Given the description of an element on the screen output the (x, y) to click on. 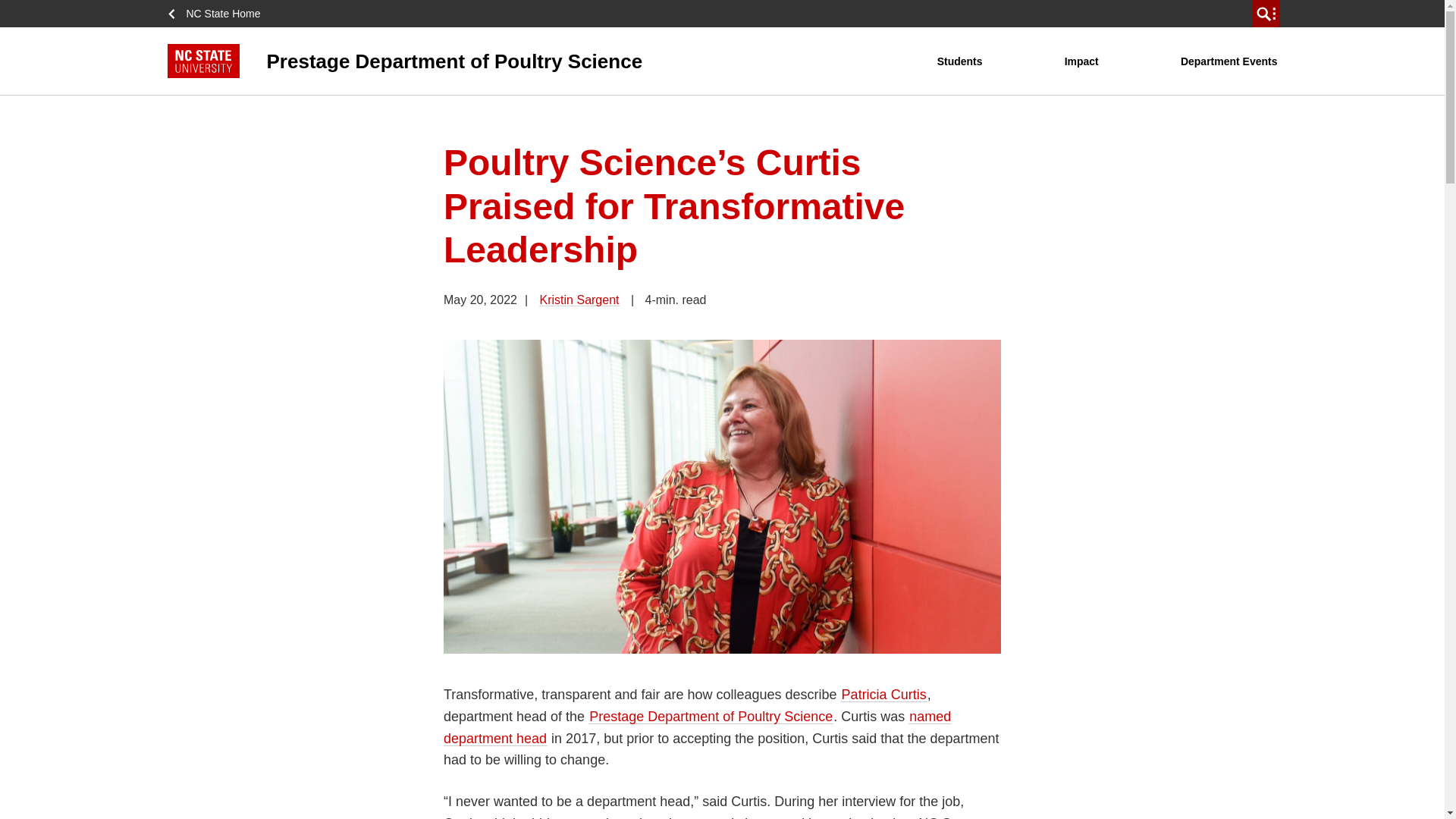
NC State Home (217, 13)
Posts by Kristin Sargent (579, 299)
Impact (1081, 61)
Prestage Department of Poultry Science (551, 61)
Students (960, 61)
Department Events (1228, 61)
